Given the description of an element on the screen output the (x, y) to click on. 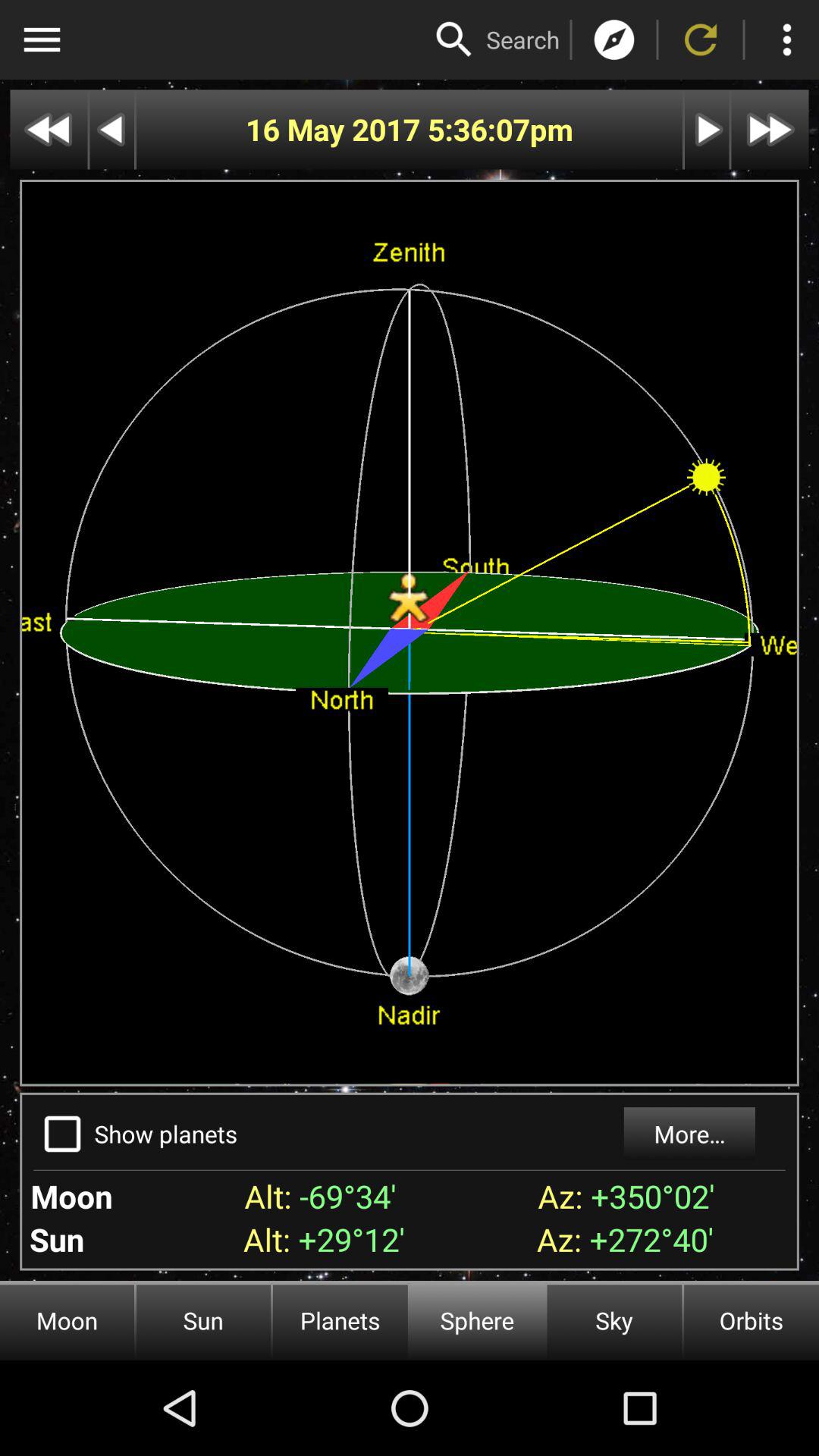
open menu (41, 39)
